Given the description of an element on the screen output the (x, y) to click on. 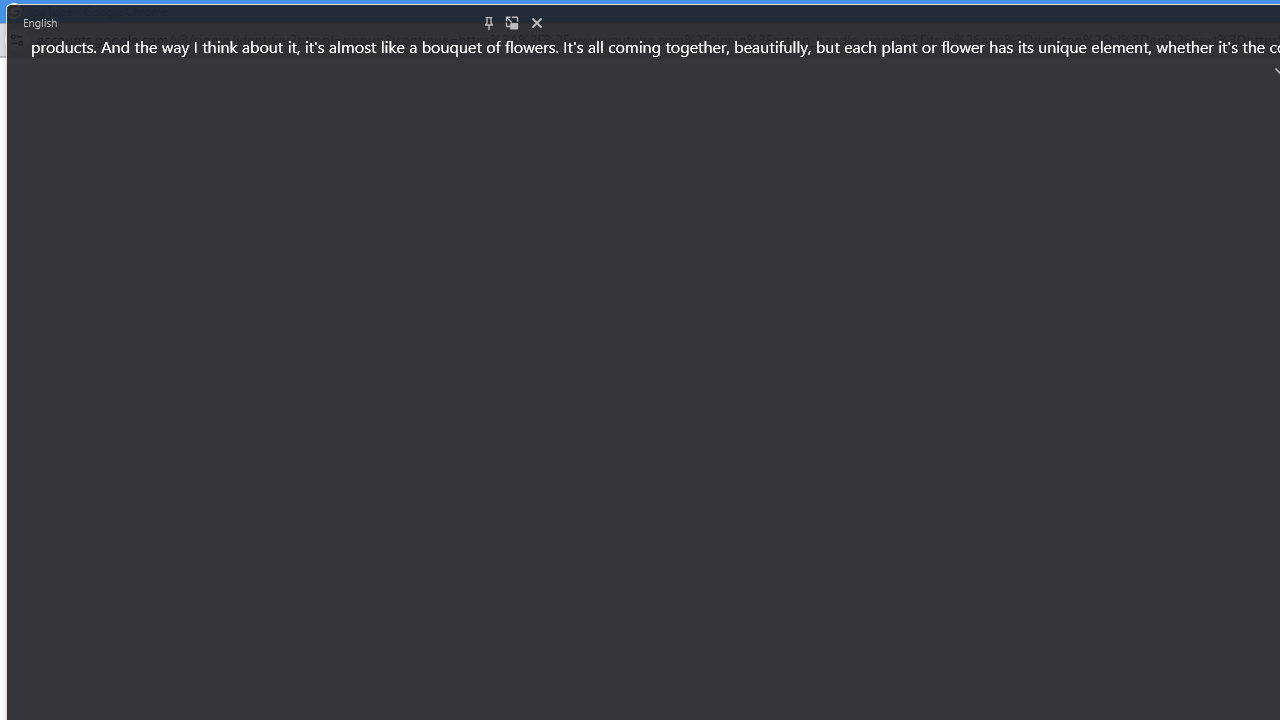
Pin (488, 22)
Back to tab (512, 22)
Turn off Live Caption for now (536, 22)
